Given the description of an element on the screen output the (x, y) to click on. 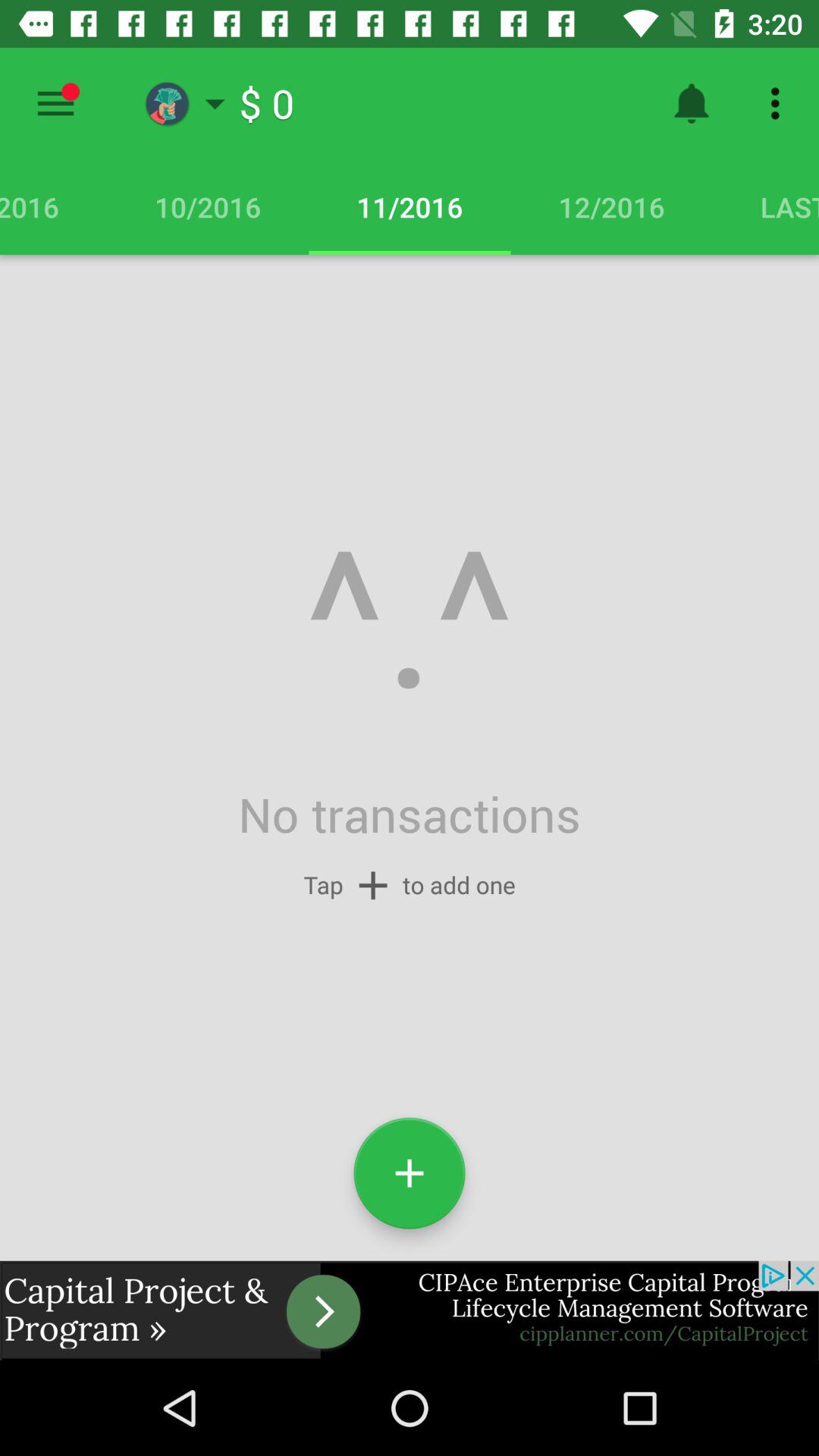
select option (55, 103)
